Given the description of an element on the screen output the (x, y) to click on. 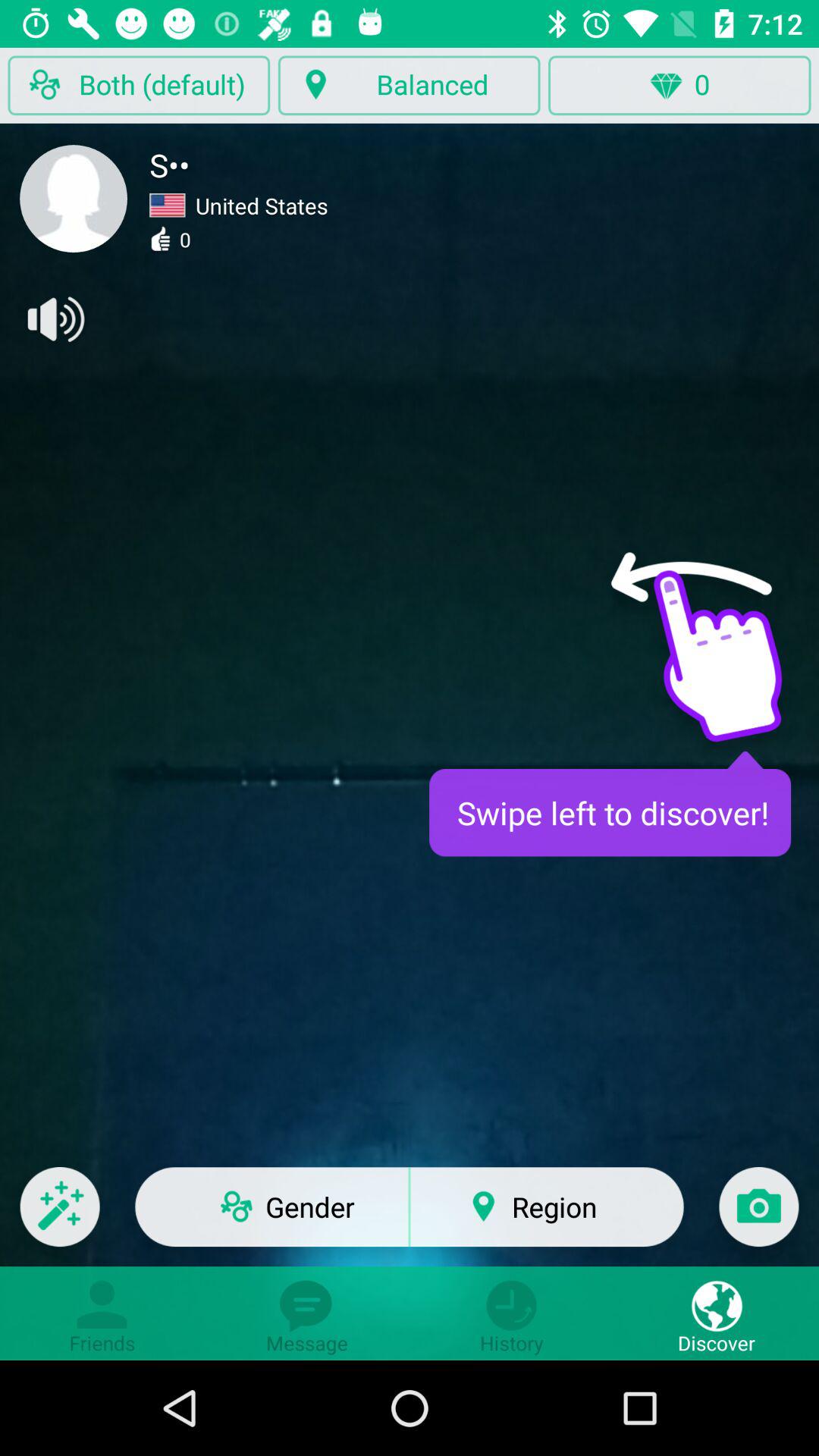
tap icon below both (default) item (73, 198)
